Given the description of an element on the screen output the (x, y) to click on. 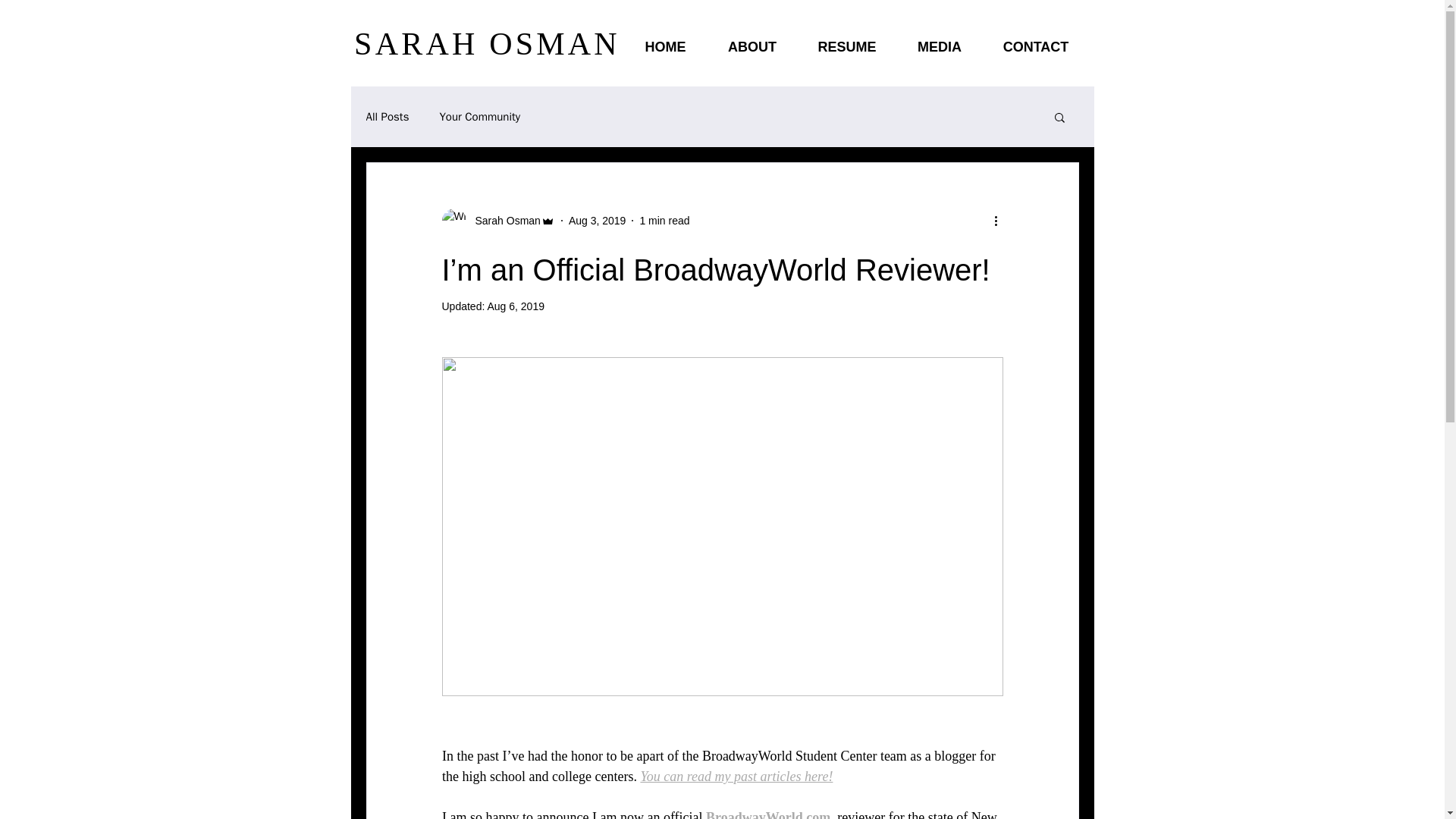
1 min read (663, 219)
HOME (664, 46)
BroadwayWorld.com (767, 814)
Sarah Osman (497, 220)
You can read my past articles here! (736, 776)
MEDIA (938, 46)
CONTACT (1035, 46)
ABOUT (751, 46)
SARAH OSMAN (486, 43)
RESUME (846, 46)
